Given the description of an element on the screen output the (x, y) to click on. 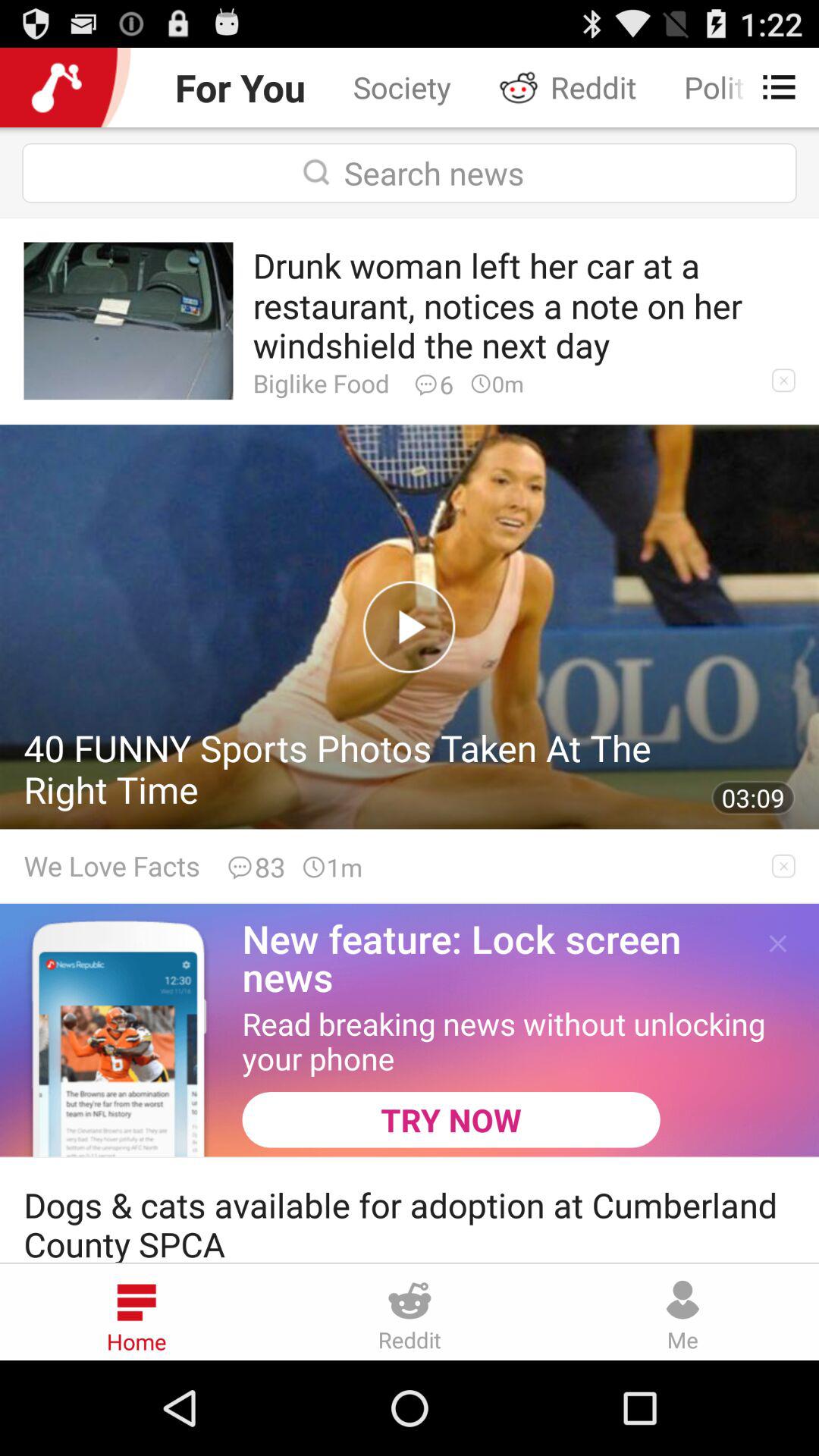
choose the icon to the right of reddit item (771, 87)
